Given the description of an element on the screen output the (x, y) to click on. 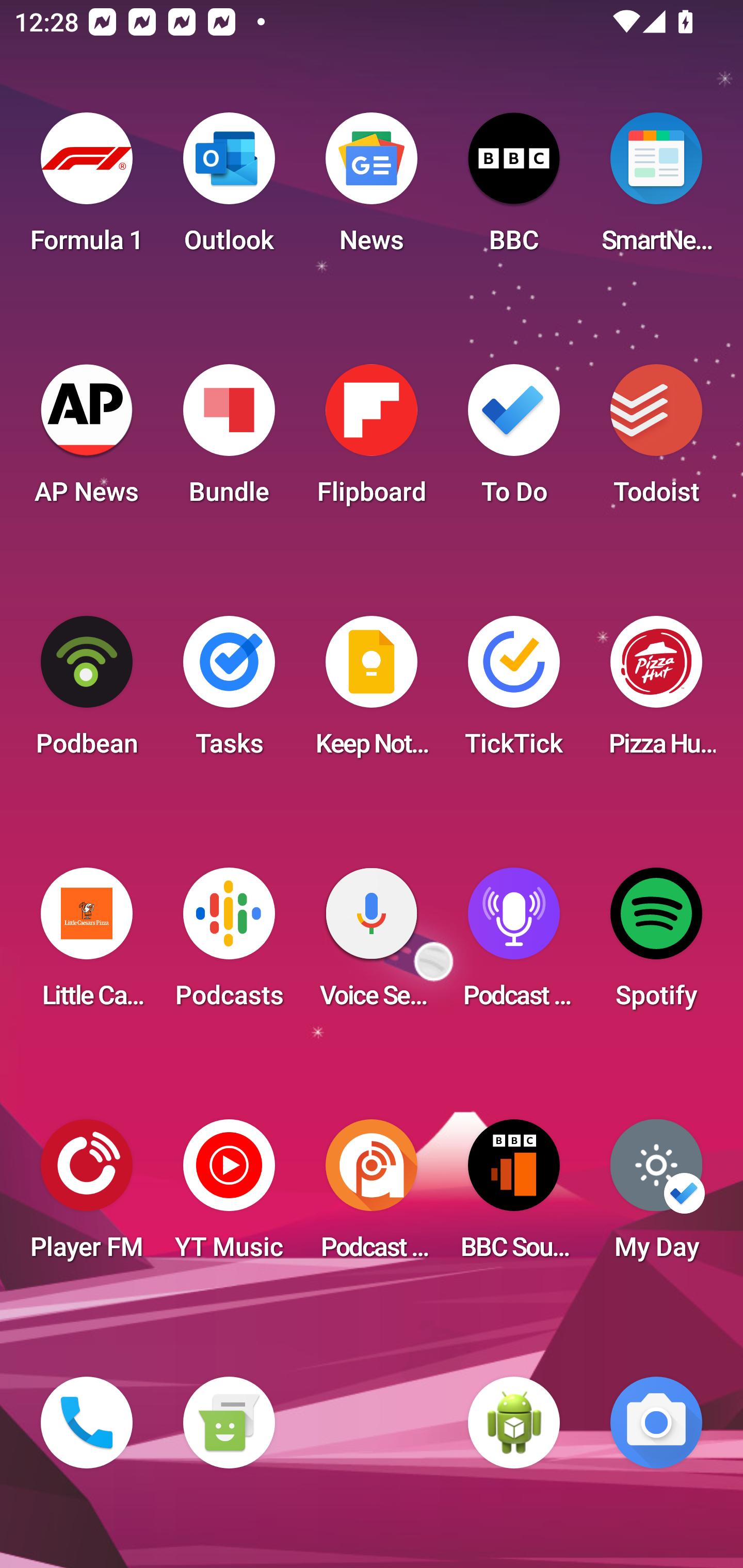
Formula 1 (86, 188)
Outlook (228, 188)
News (371, 188)
BBC (513, 188)
SmartNews (656, 188)
AP News (86, 440)
Bundle (228, 440)
Flipboard (371, 440)
To Do (513, 440)
Todoist (656, 440)
Podbean (86, 692)
Tasks (228, 692)
Keep Notes (371, 692)
TickTick (513, 692)
Pizza Hut HK & Macau (656, 692)
Little Caesars Pizza (86, 943)
Podcasts (228, 943)
Voice Search (371, 943)
Podcast Player (513, 943)
Spotify (656, 943)
Player FM (86, 1195)
YT Music (228, 1195)
Podcast Addict (371, 1195)
BBC Sounds (513, 1195)
My Day (656, 1195)
Phone (86, 1422)
Messaging (228, 1422)
WebView Browser Tester (513, 1422)
Camera (656, 1422)
